Given the description of an element on the screen output the (x, y) to click on. 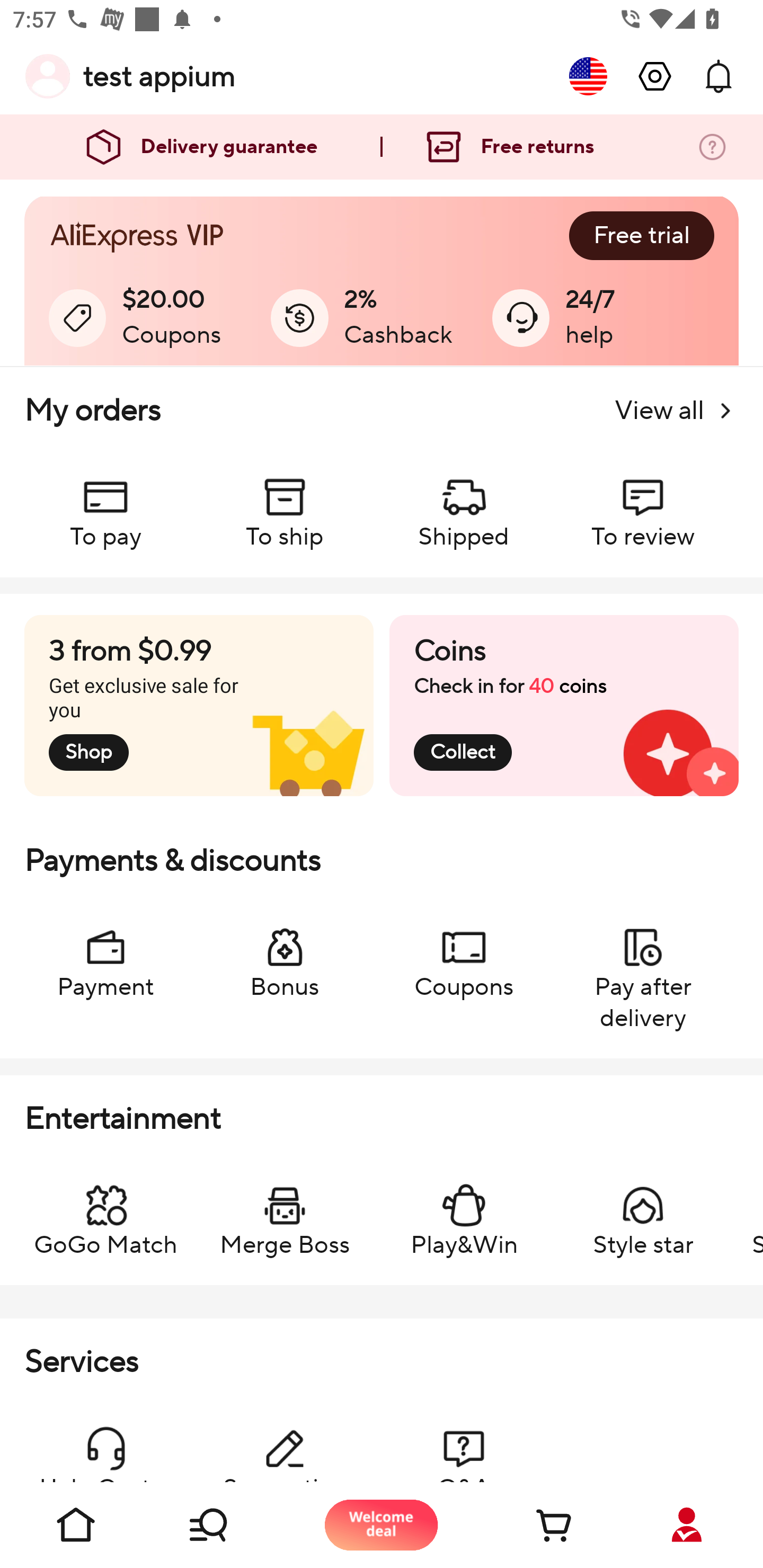
 (654, 75)
Messages (718, 75)
test appium (158, 75)
Free trial $20.00 Coupons 2% Cashback 24/7 help (381, 281)
View all (676, 410)
To pay (105, 503)
To ship (284, 503)
Shipped (463, 503)
To review (642, 503)
3 from $0.99 Get exclusive sale for you Shop (198, 705)
Coins Check in for 40 coins Collect (563, 705)
Payment (105, 953)
Bonus (284, 953)
Coupons (463, 953)
Pay after delivery (642, 969)
GoGo Match (105, 1211)
Merge Boss (284, 1211)
Play&Win (463, 1211)
Style star (642, 1211)
Help Center (105, 1443)
Suggestion (284, 1443)
Q&A (463, 1443)
Home (76, 1524)
Shop (228, 1524)
Cart (533, 1524)
